Given the description of an element on the screen output the (x, y) to click on. 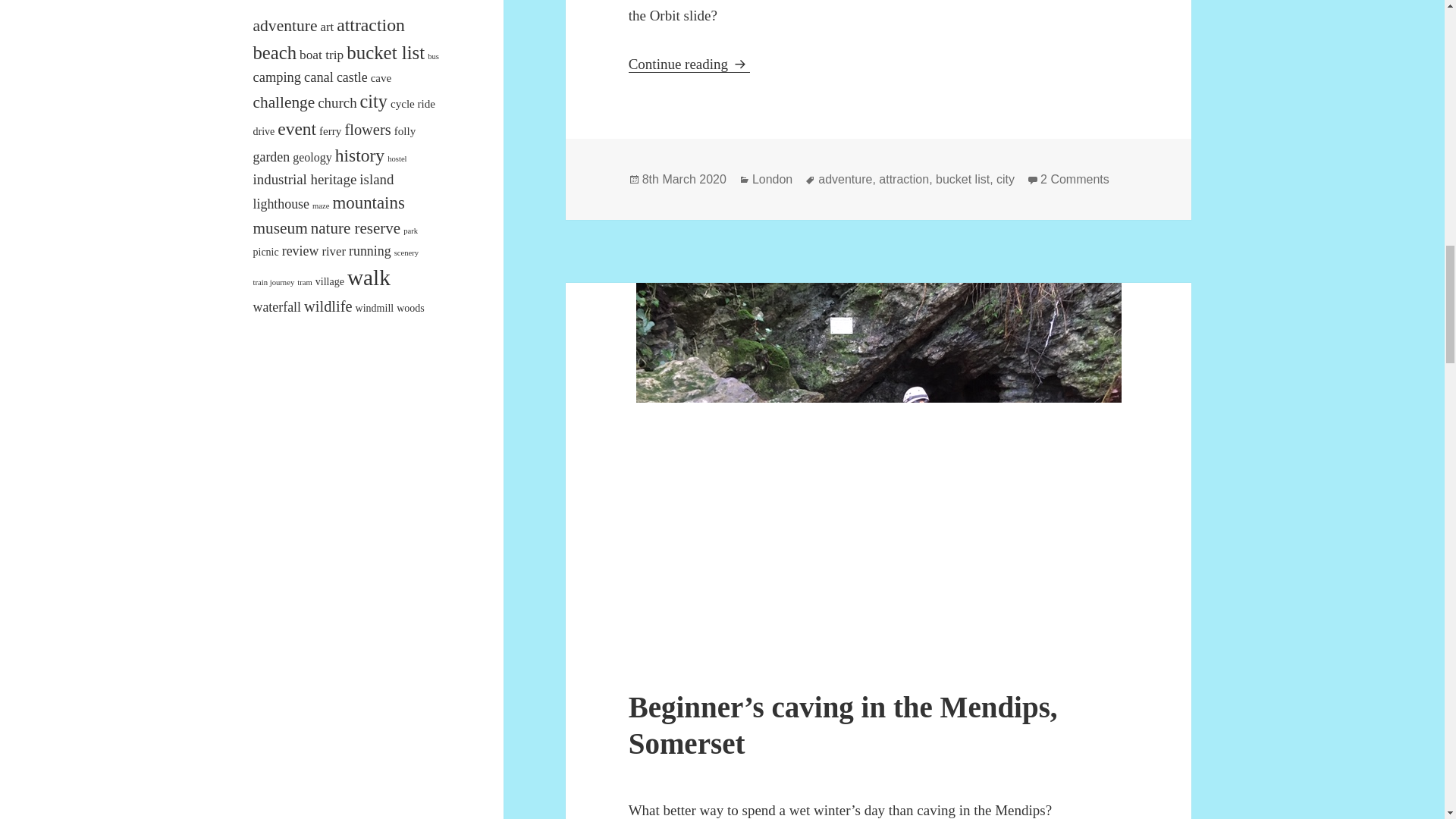
cave (381, 78)
attraction (370, 25)
challenge (284, 102)
art (326, 26)
bucket list (385, 52)
bus (433, 56)
cycle ride (412, 103)
drive (264, 131)
church (336, 102)
adventure (285, 25)
